Given the description of an element on the screen output the (x, y) to click on. 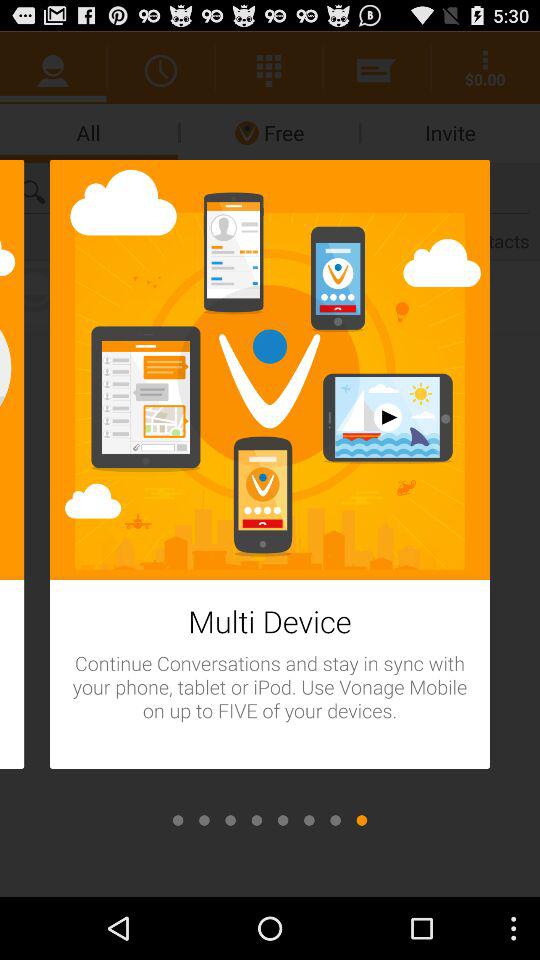
go to anotherpage (309, 820)
